Given the description of an element on the screen output the (x, y) to click on. 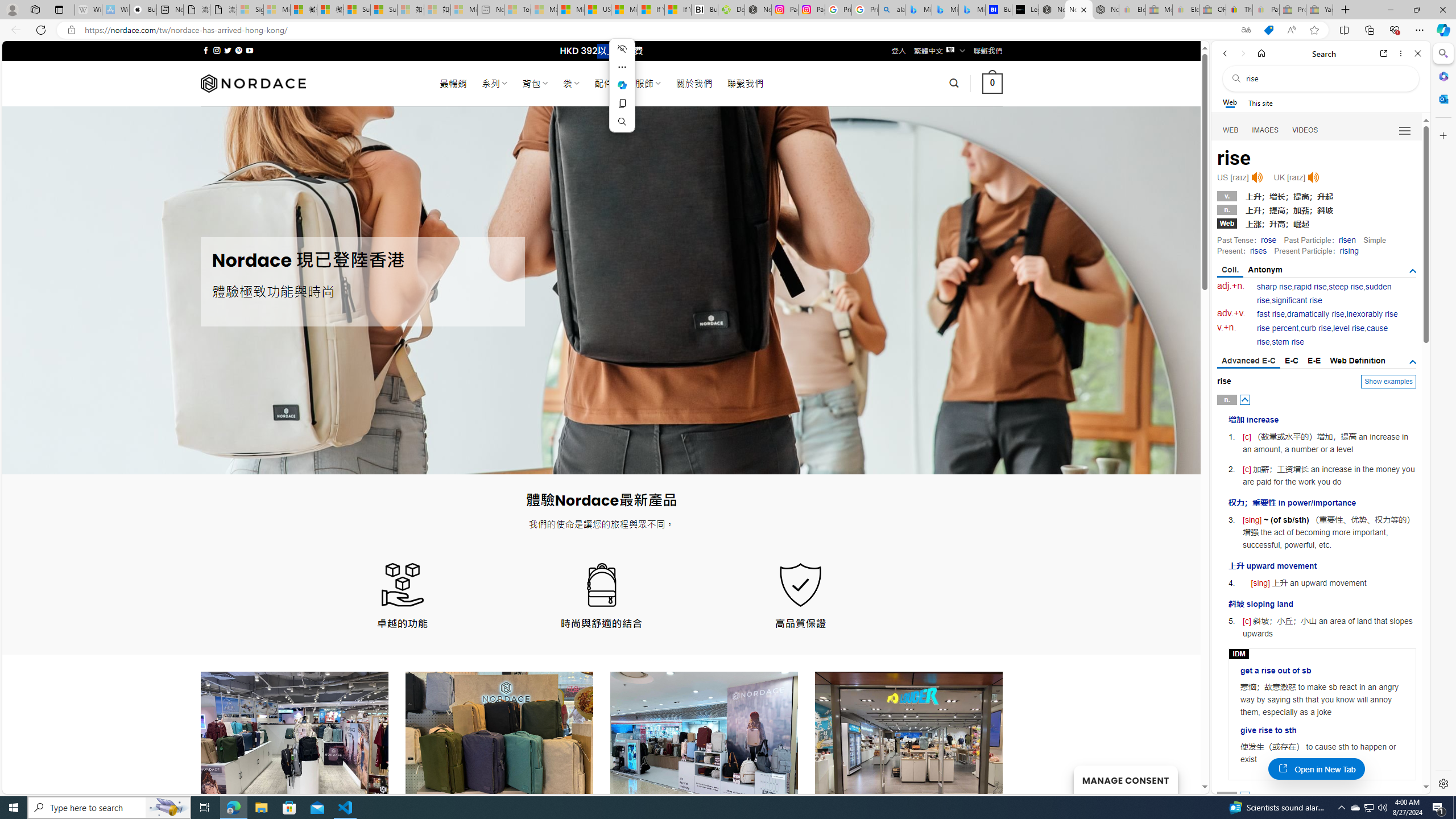
AutomationID: posbtn_0 (1245, 399)
Press Room - eBay Inc. - Sleeping (1292, 9)
Payments Terms of Use | eBay.com - Sleeping (1265, 9)
cause rise (1322, 335)
sharp rise (1274, 286)
rise percent (1277, 328)
